Given the description of an element on the screen output the (x, y) to click on. 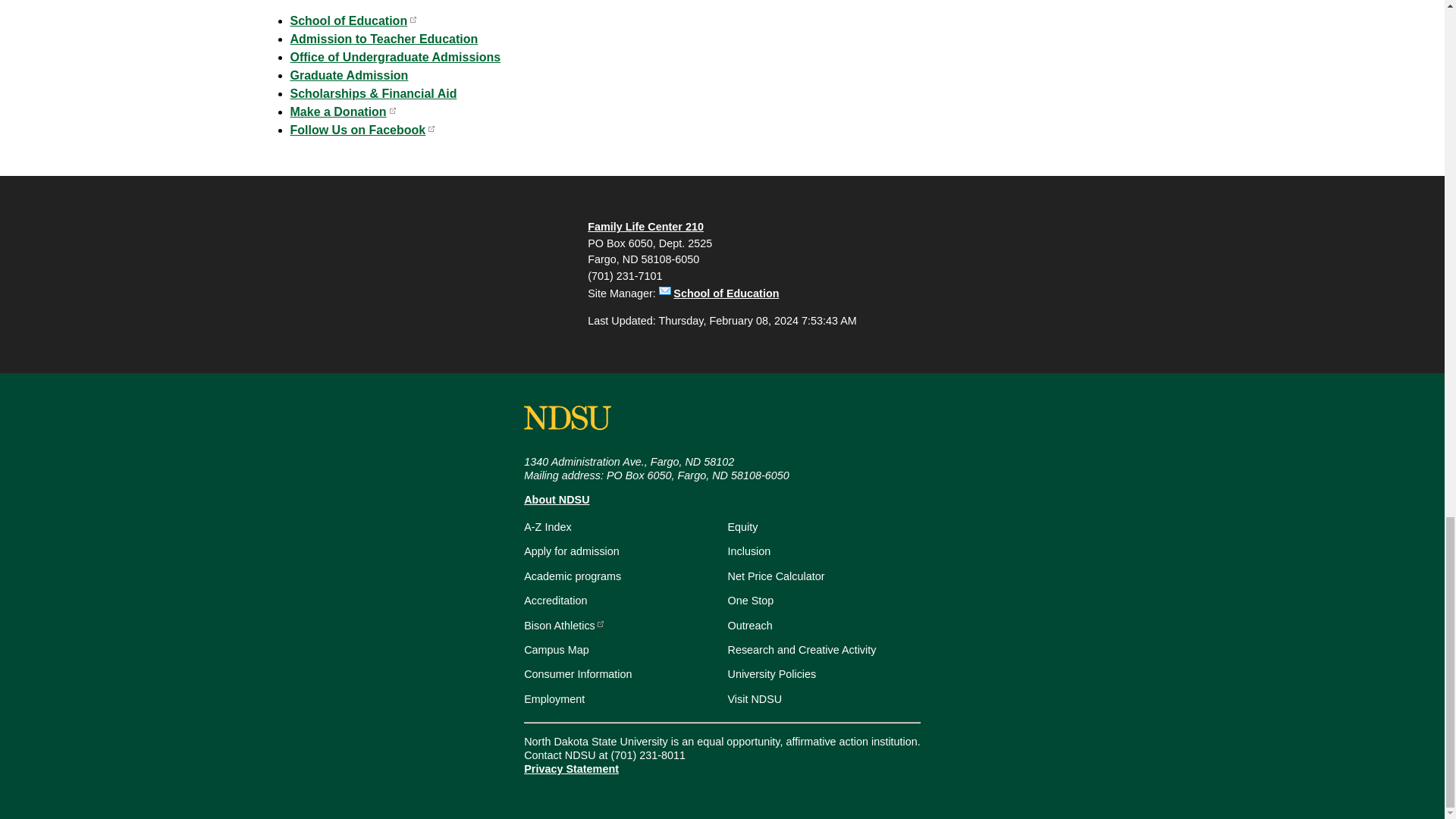
Undergraduate Admission (394, 56)
Follow Us on Facebook (361, 129)
Graduate Admission (348, 74)
School of Education (352, 20)
Make a Donation (341, 111)
